Given the description of an element on the screen output the (x, y) to click on. 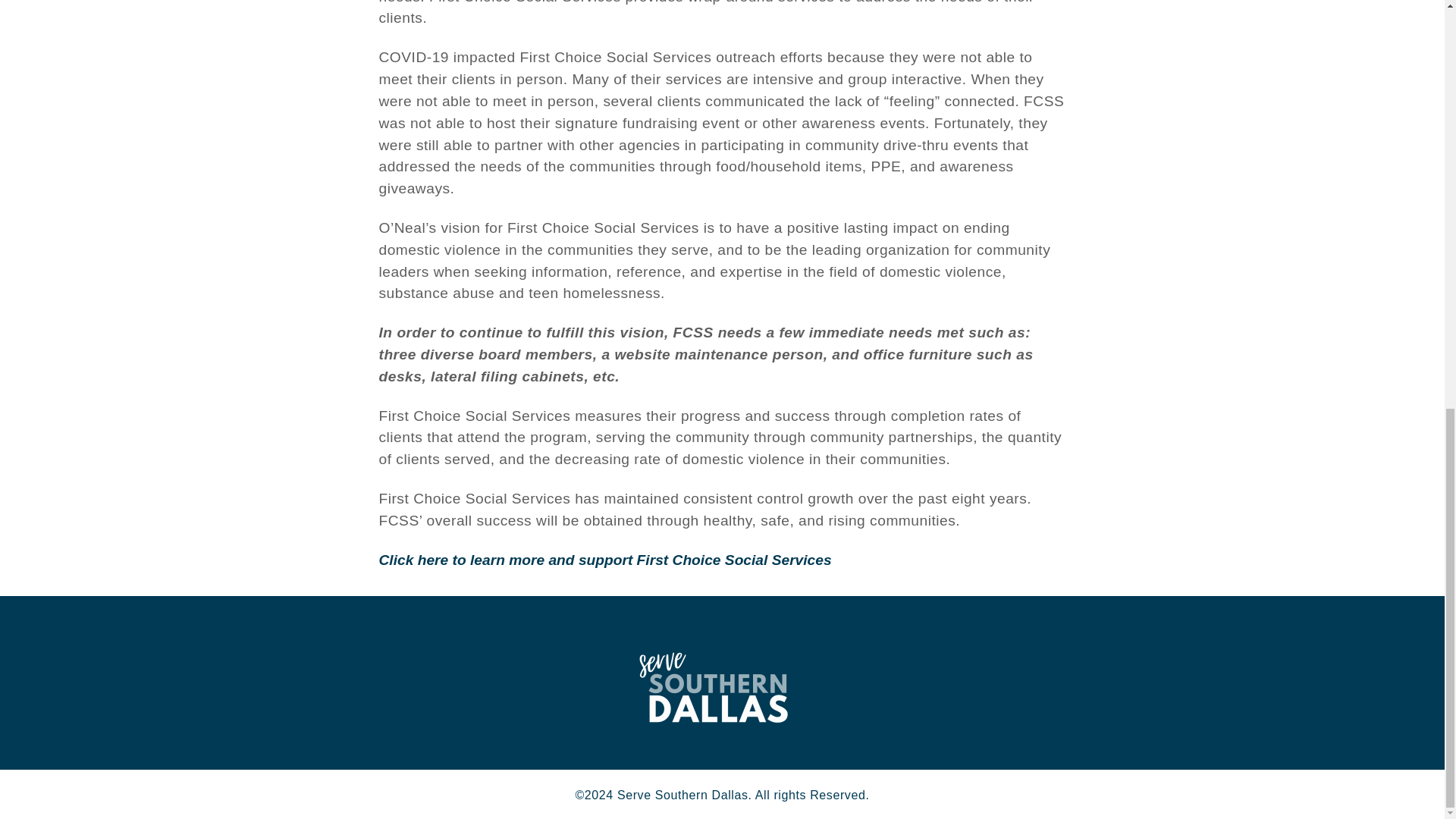
Serve Southern Dallas logo single color (713, 682)
